Given the description of an element on the screen output the (x, y) to click on. 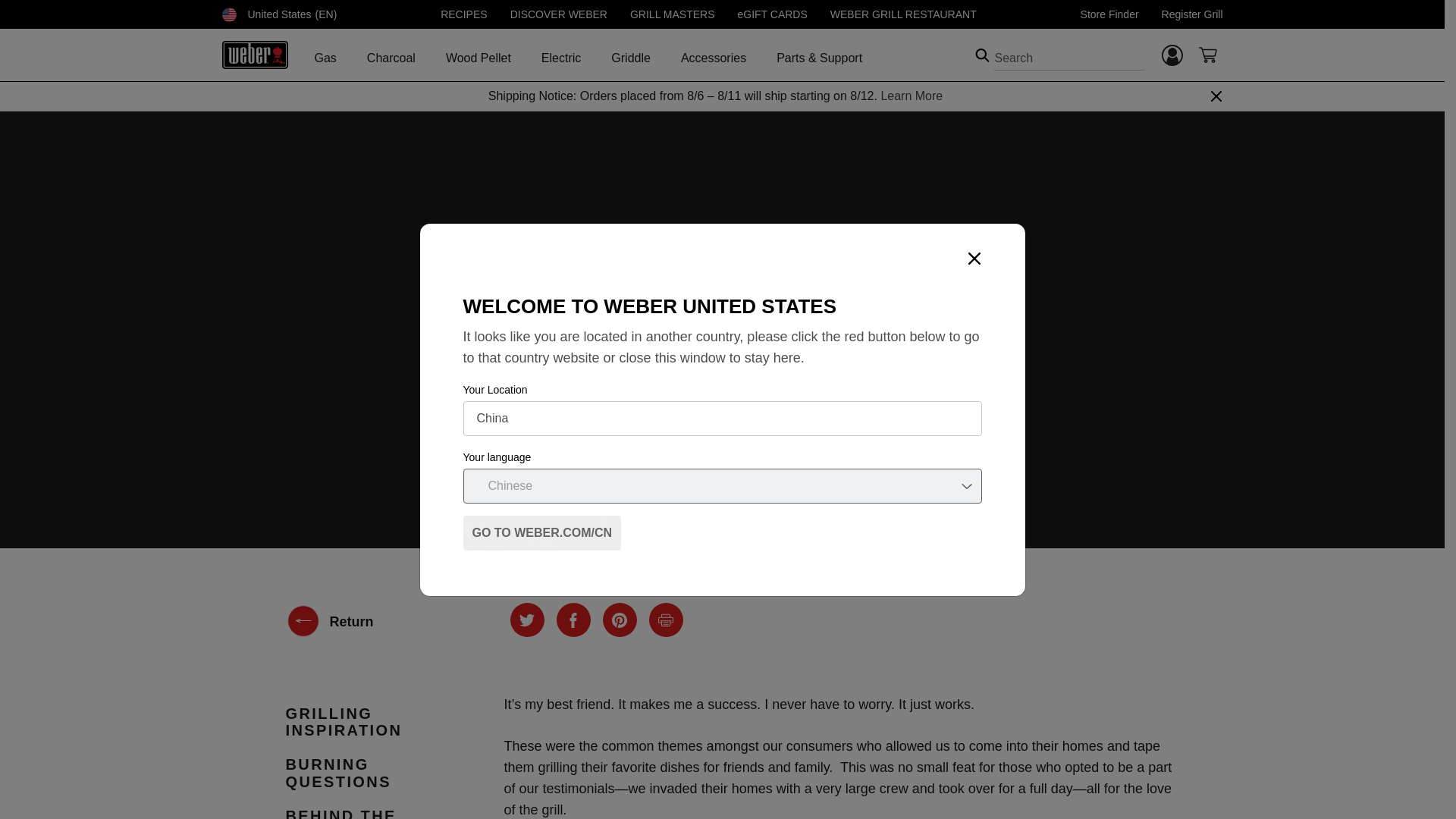
Gas Grill (325, 57)
Charcoal (390, 57)
Charcoal (390, 60)
Register Grill (1192, 14)
eGIFT CARDS (771, 14)
United States (228, 14)
Register Grill (1192, 14)
Store Finder (1109, 14)
WEBER GRILL RESTAURANT (902, 14)
Store Finder (1109, 14)
GRILL MASTERS (672, 14)
RECIPES (463, 14)
DISCOVER WEBER (559, 14)
China (722, 417)
Charcoal (390, 60)
